Given the description of an element on the screen output the (x, y) to click on. 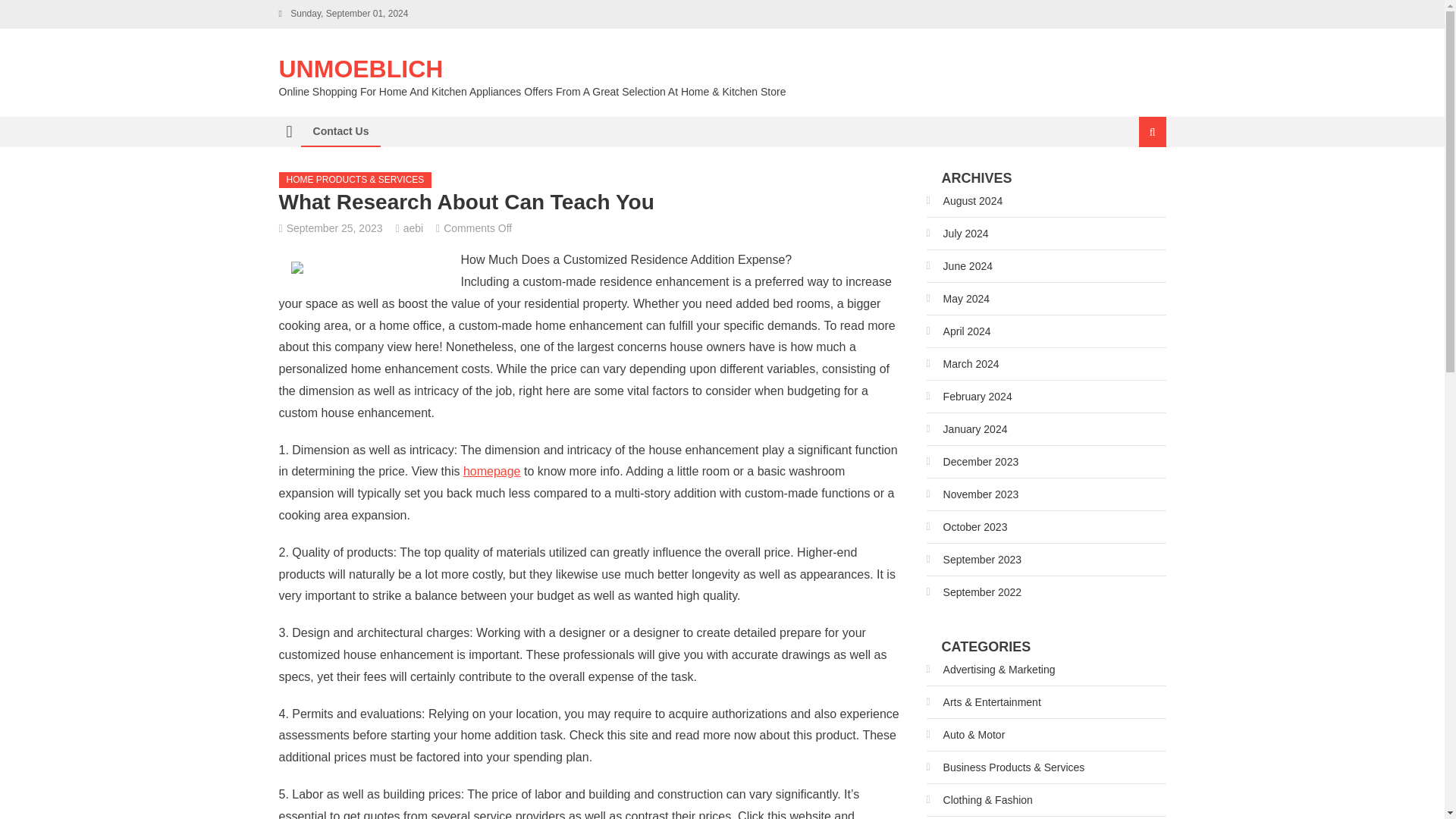
UNMOEBLICH (361, 68)
July 2024 (957, 233)
homepage (492, 471)
February 2024 (968, 396)
aebi (413, 227)
August 2024 (964, 200)
Contact Us (340, 131)
September 25, 2023 (334, 227)
April 2024 (958, 331)
May 2024 (958, 298)
